Given the description of an element on the screen output the (x, y) to click on. 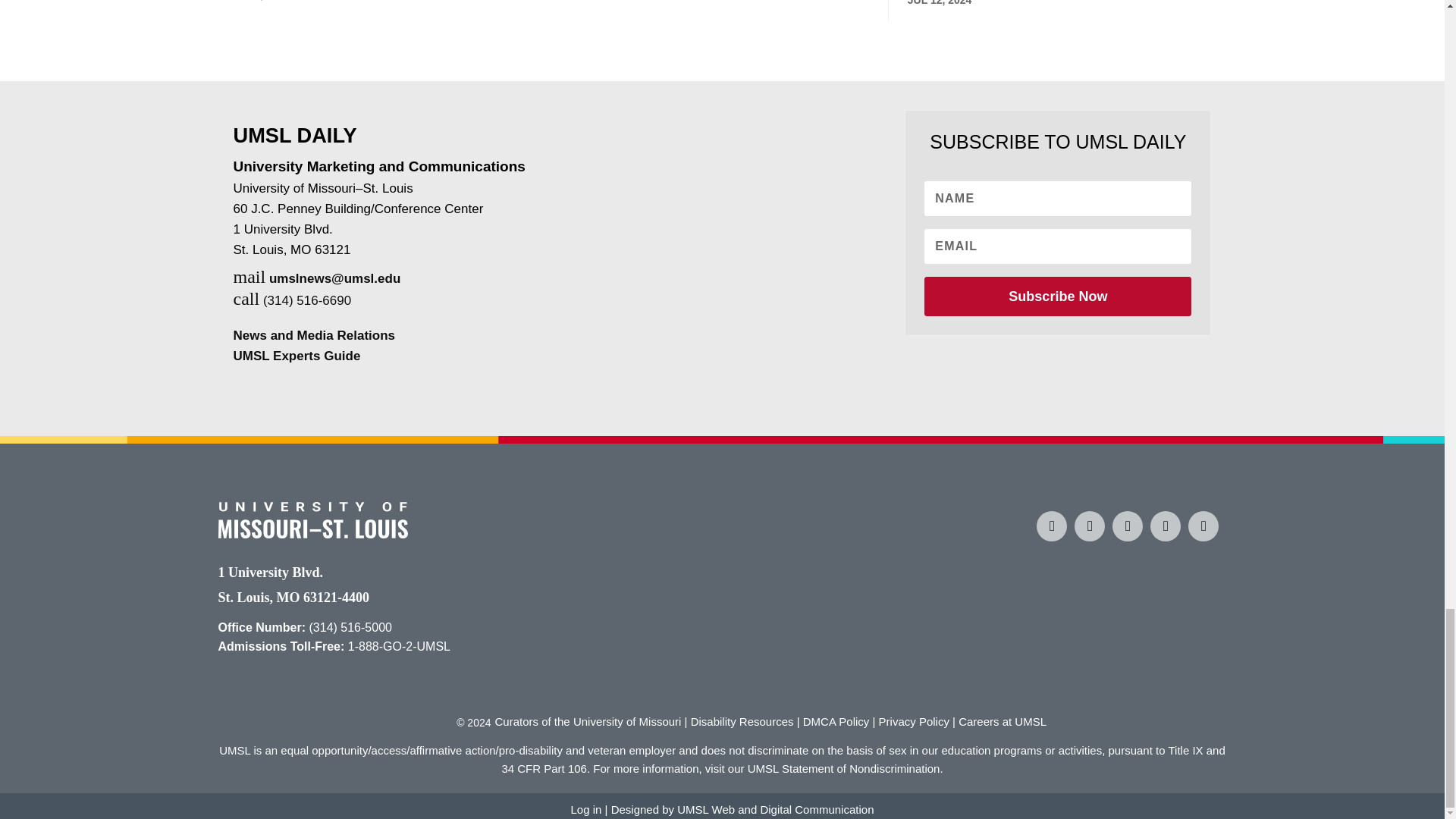
UMSL Experts Guide (296, 355)
Visit UMSL on Facebook (1051, 526)
University of Missouri St. Louis (312, 533)
Disablity resources (741, 721)
UMSL Campus Calendar (1203, 526)
Visit UMSL on TikTok (1127, 526)
Visit UMSL on LinkedIn (1165, 526)
Visit UMSL on Facebook (1051, 525)
Admissions Toll-Free Number (398, 645)
UMSL News and Media Relations (314, 335)
Office Telephone Number (349, 626)
Visit UMSL on Instagram (1089, 526)
Curators of the University of Missouri (588, 721)
